Given the description of an element on the screen output the (x, y) to click on. 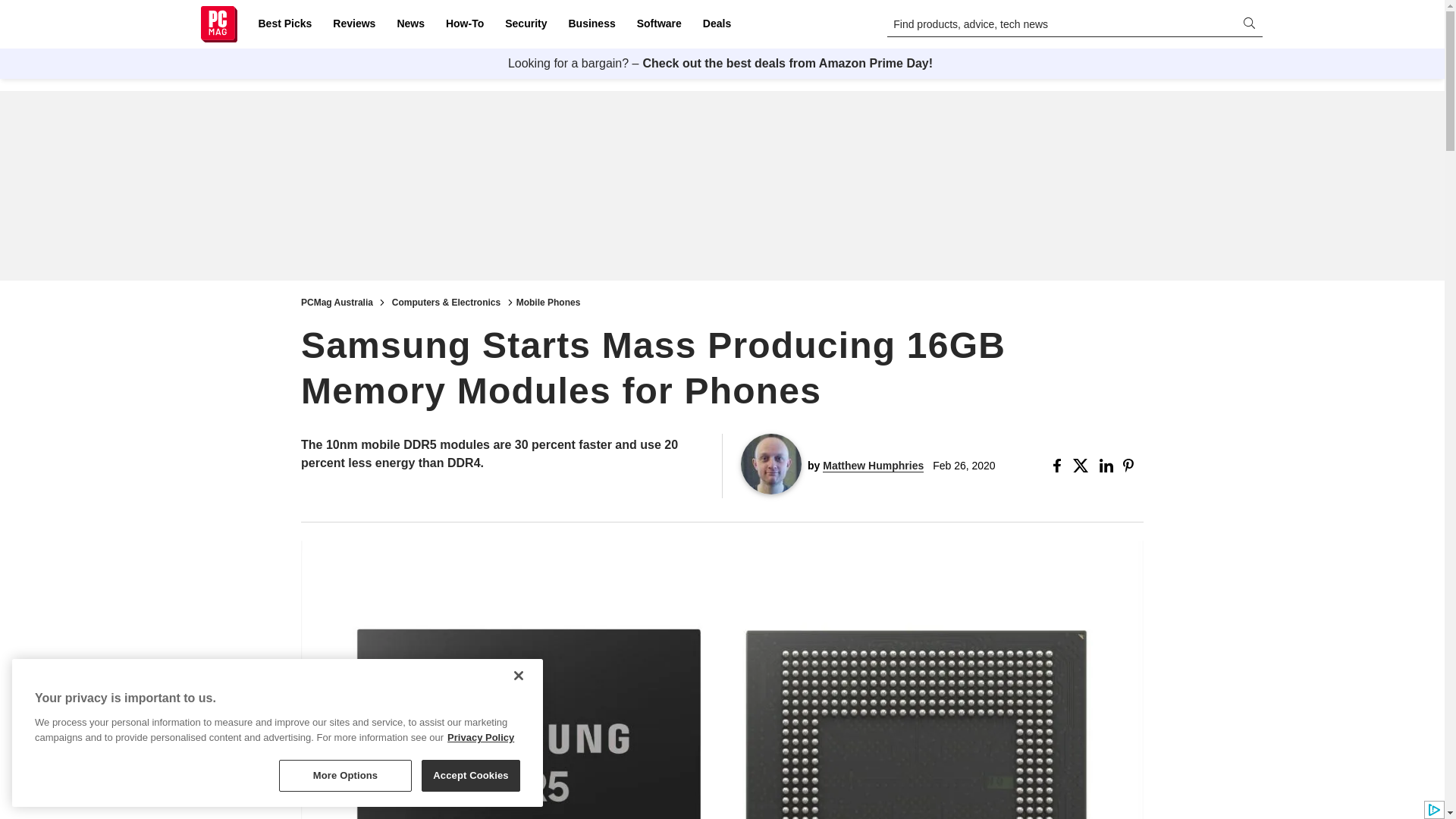
Business (591, 24)
Share this Story on Linkedin (1107, 465)
How-To (464, 24)
Best Picks (284, 24)
Reviews (353, 24)
Security (526, 24)
Share this Story on X (1083, 465)
Share this Story on Facebook (1059, 465)
Share this Story on Pinterest (1132, 465)
